Given the description of an element on the screen output the (x, y) to click on. 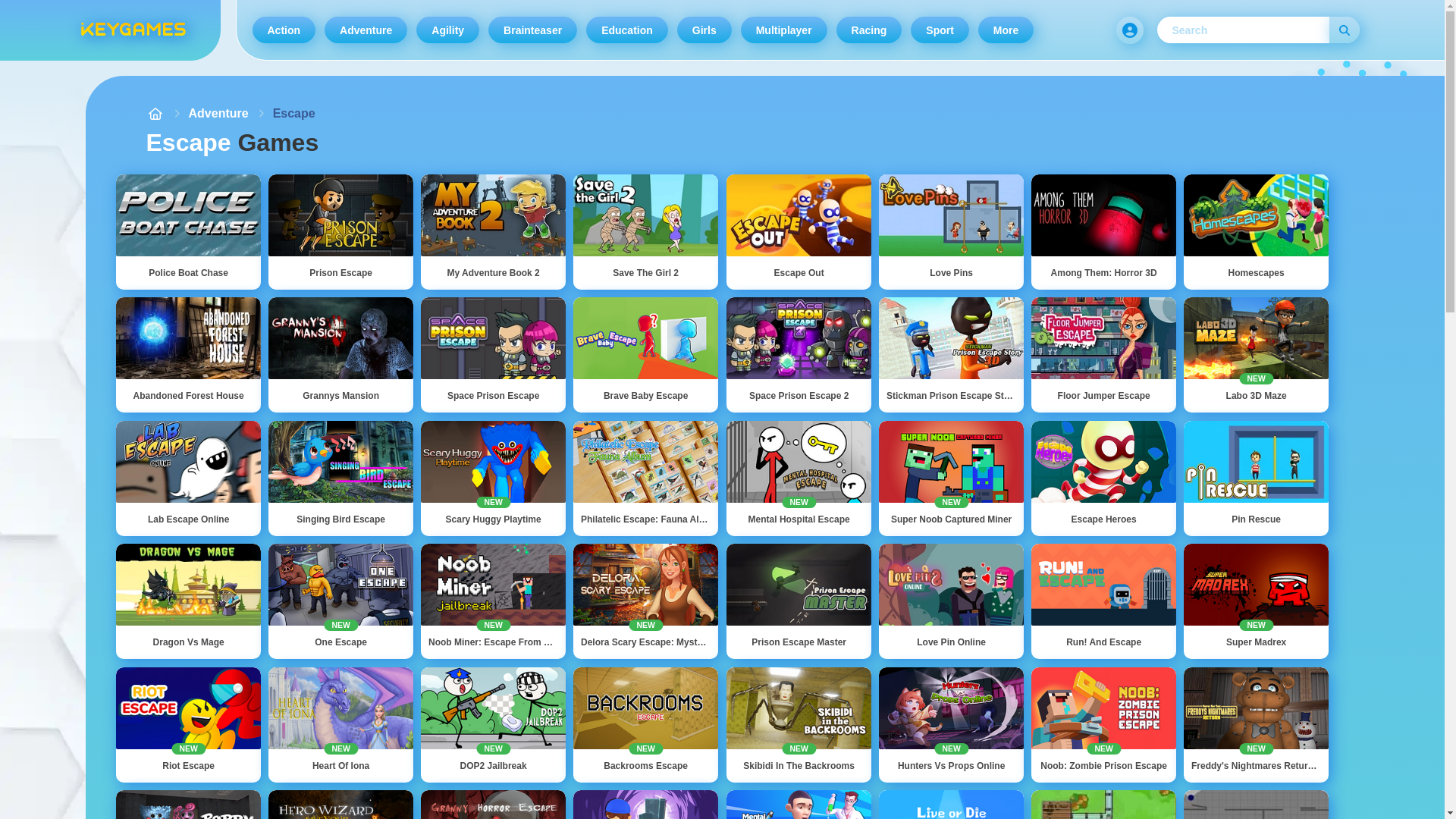
Keygames.com (132, 30)
Adventure (365, 29)
Action (283, 29)
Action (283, 29)
